Given the description of an element on the screen output the (x, y) to click on. 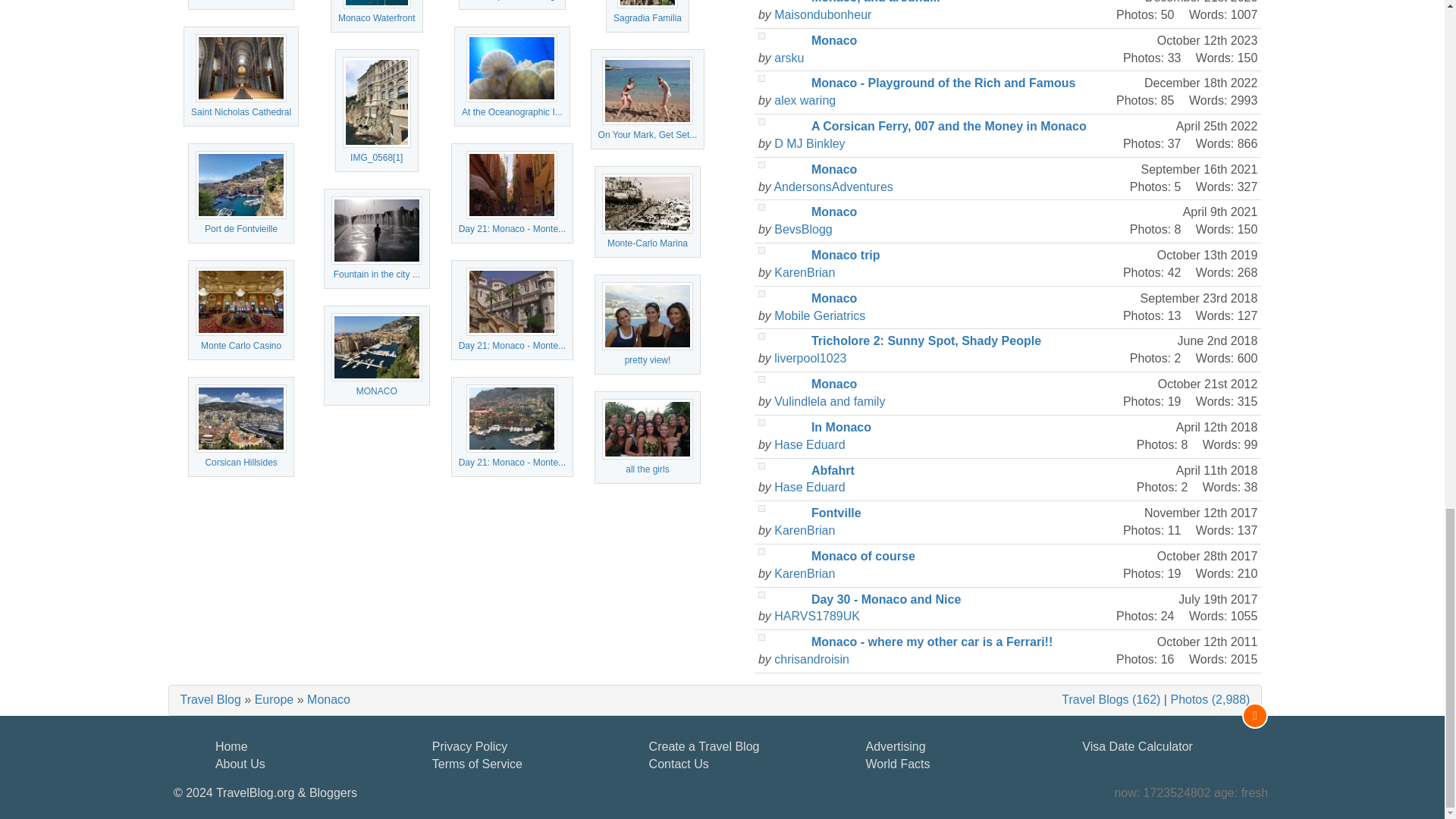
Monaco Waterfront (376, 4)
MONACO (376, 346)
Monte Carlo Casino (240, 301)
Corsican Hillsides (240, 418)
Saint Nicholas Cathedral (240, 68)
 Fountain in the city centre (376, 230)
Port de Fontvieille (240, 184)
